Given the description of an element on the screen output the (x, y) to click on. 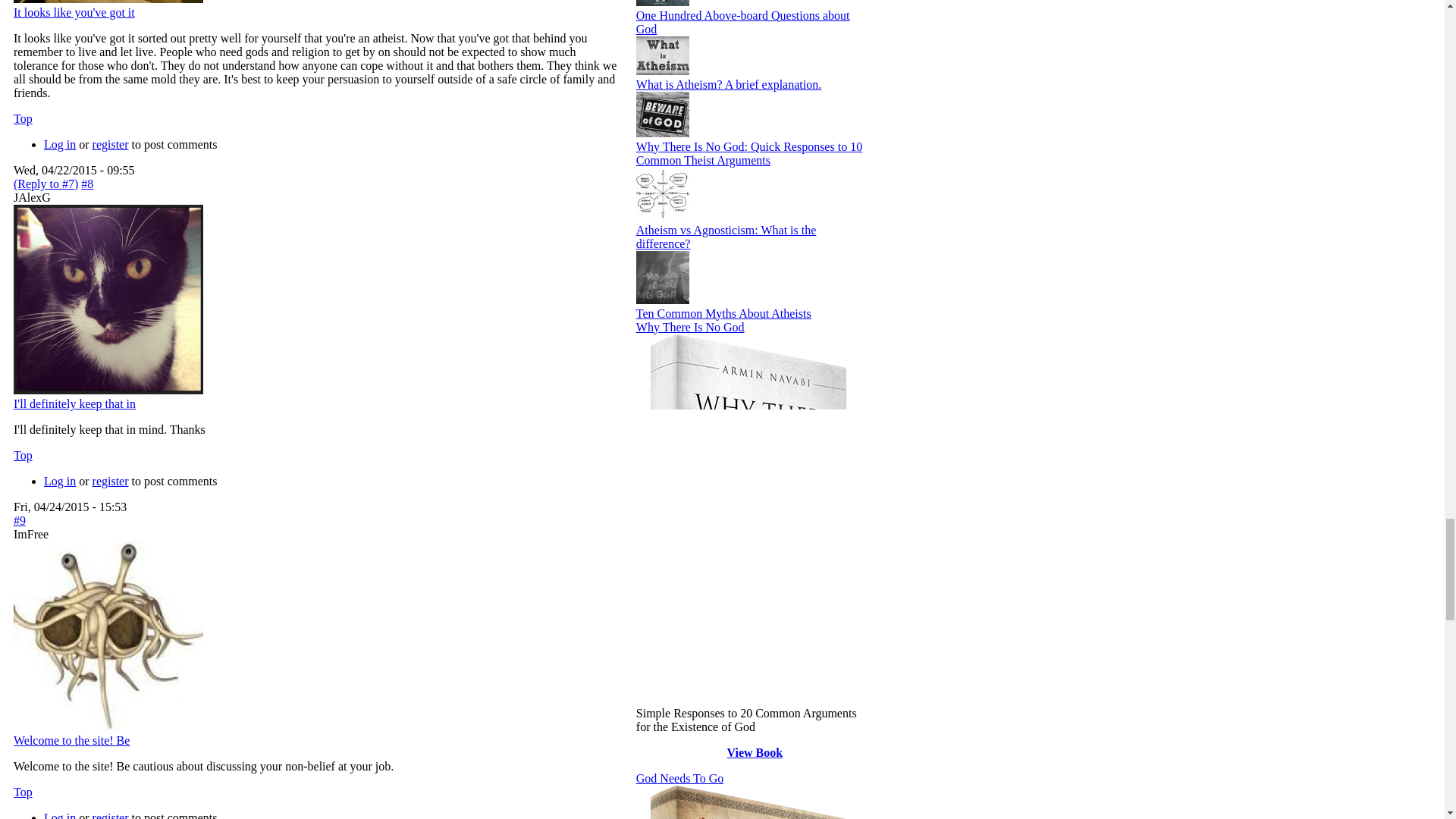
ImFree's picture (108, 636)
JAlexG's picture (108, 298)
Pitar's picture (108, 1)
Jump to top of page (22, 454)
Jump to top of page (22, 118)
Jump to top of page (22, 791)
